Given the description of an element on the screen output the (x, y) to click on. 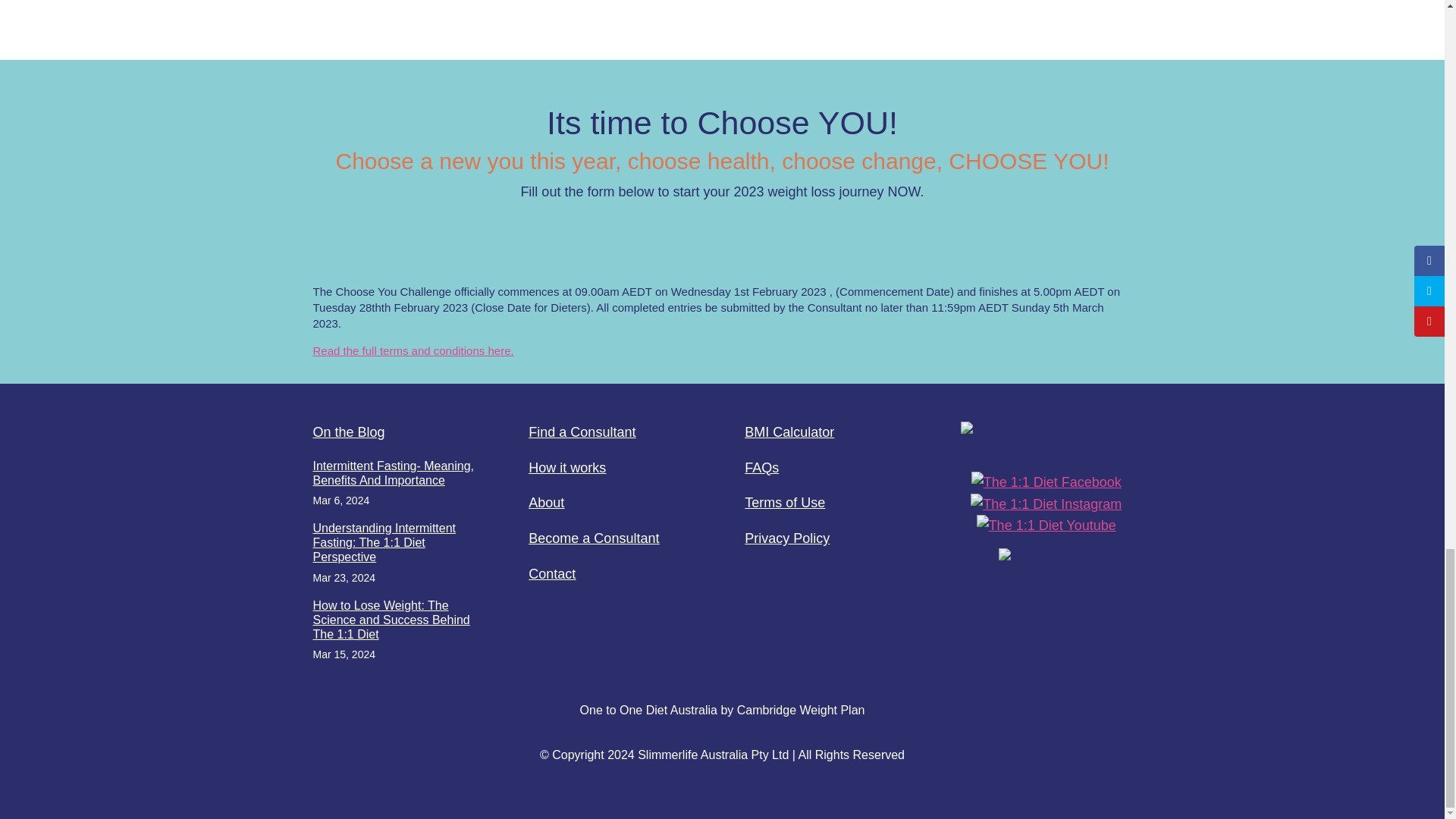
icon-hashtag-one2one (1045, 553)
Privacy Policy (786, 538)
How it works (566, 467)
landing-page-success-story-heidi-dilkes (505, 3)
Find a Consultant (581, 432)
Become a Consultant (593, 538)
On the Blog (348, 432)
Terms of Use (784, 502)
Intermittent Fasting- Meaning, Benefits And Importance (393, 472)
